Given the description of an element on the screen output the (x, y) to click on. 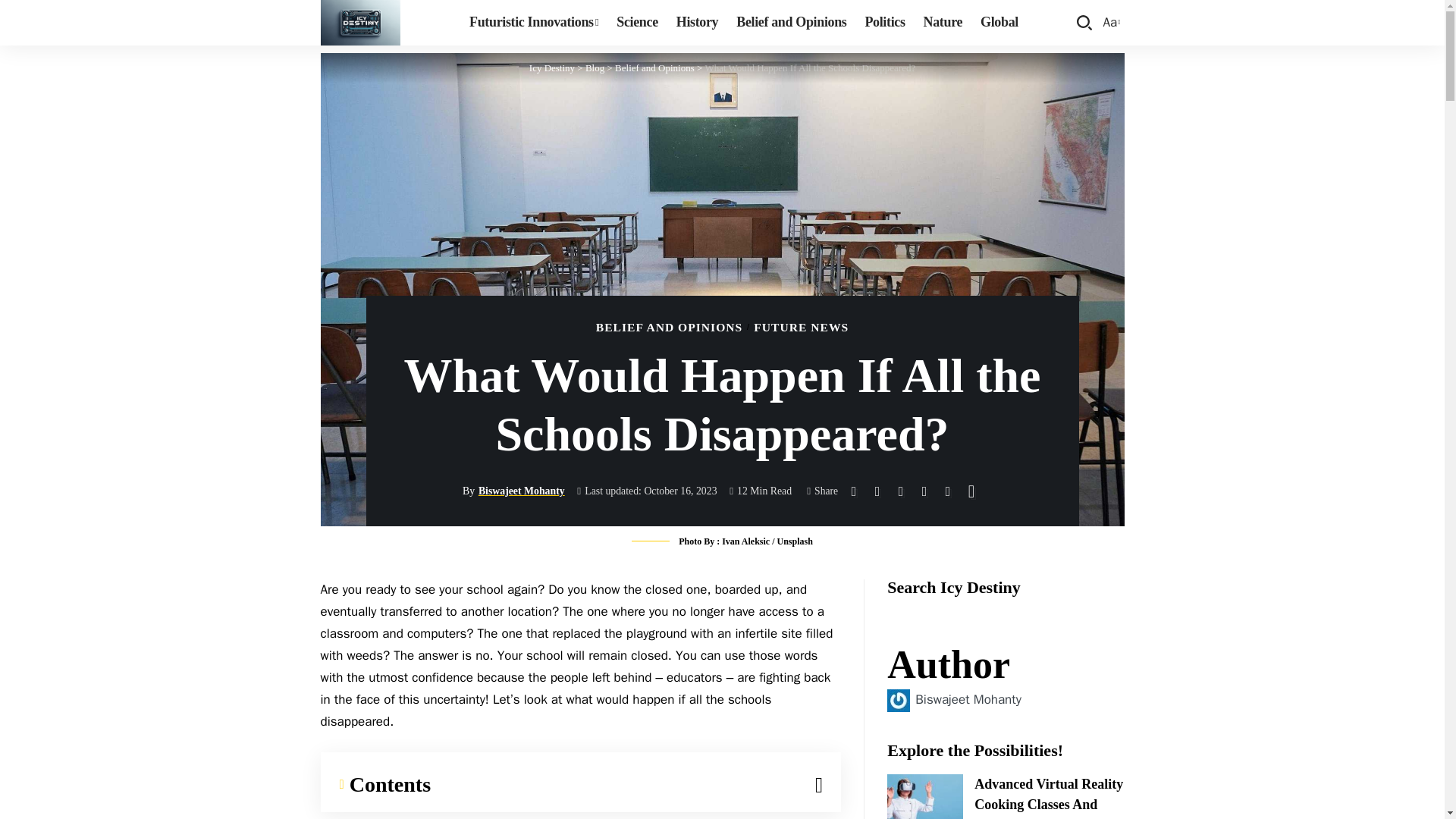
Icy Destiny (552, 67)
Futuristic Innovations (533, 22)
Global (1110, 23)
Icy Destiny (999, 22)
Belief and Opinions (359, 22)
History (791, 22)
Blog (696, 22)
Go to Icy Destiny. (594, 67)
Science (552, 67)
Go to Blog. (636, 22)
Politics (594, 67)
Advanced Virtual Reality Cooking Classes And Simulations (885, 22)
Biswajeet Mohanty (924, 796)
Go to the Belief and Opinions Category archives. (968, 699)
